Given the description of an element on the screen output the (x, y) to click on. 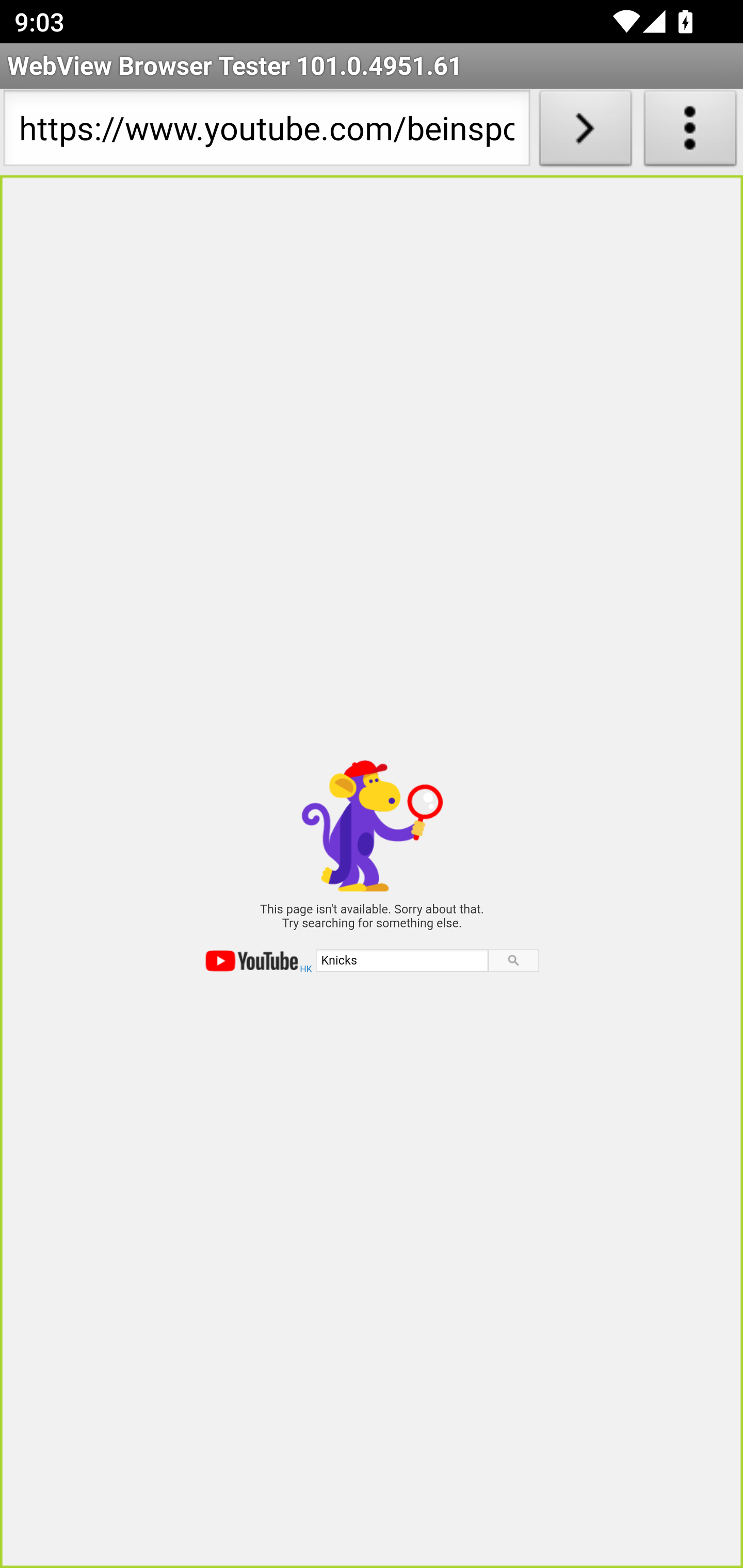
Load URL (585, 132)
About WebView (690, 132)
YouTube home HK YouTube home HK (258, 961)
Knicks (401, 959)
Search (513, 960)
